Given the description of an element on the screen output the (x, y) to click on. 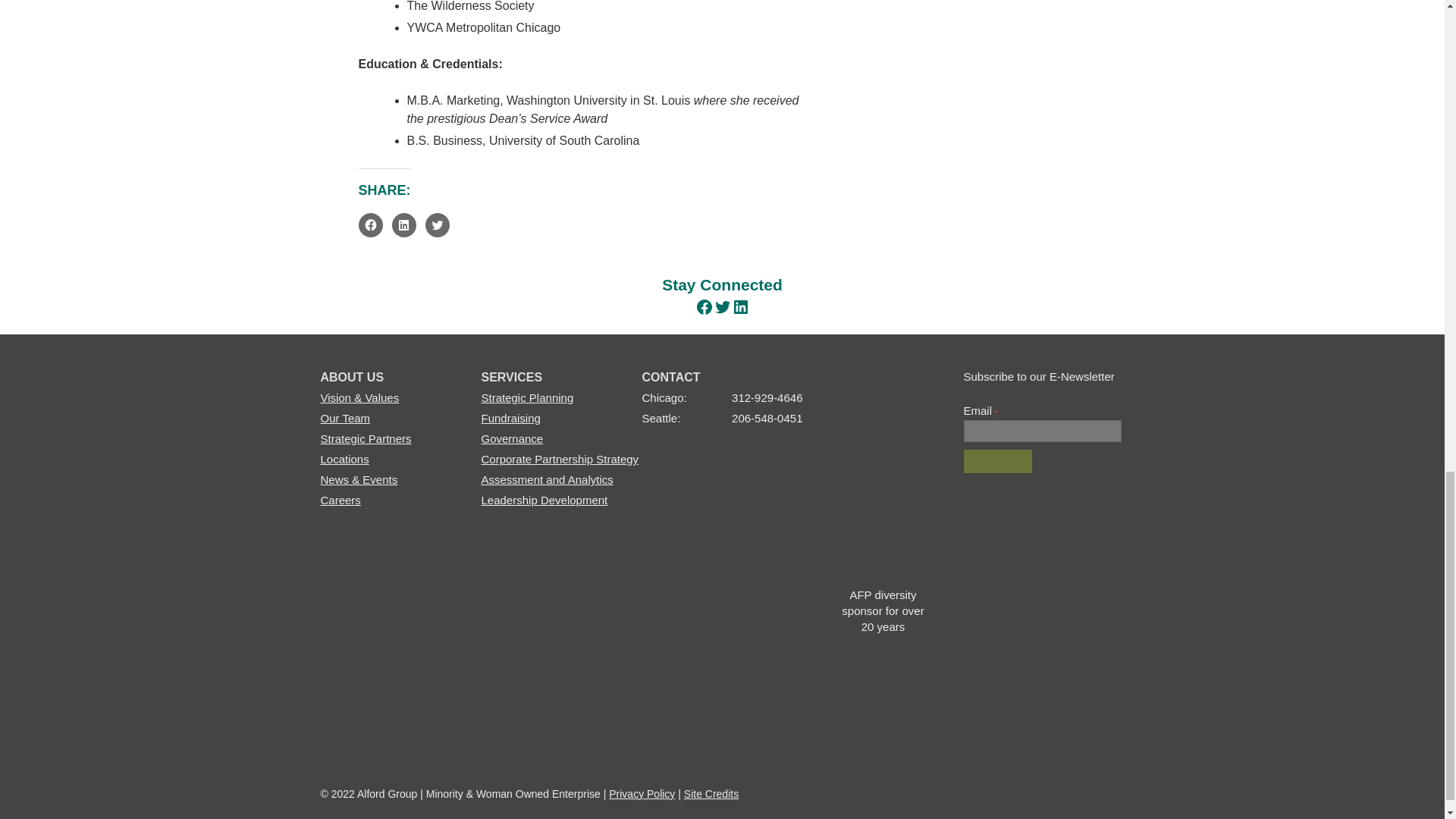
Locations (344, 459)
Strategic Partners (365, 438)
Click to share on Facebook (369, 224)
Our Team (344, 418)
LinkedIn (739, 307)
Click to share on LinkedIn (402, 224)
Click to share on Twitter (436, 224)
Twitter (721, 307)
Facebook (703, 307)
Sign up (997, 461)
